Given the description of an element on the screen output the (x, y) to click on. 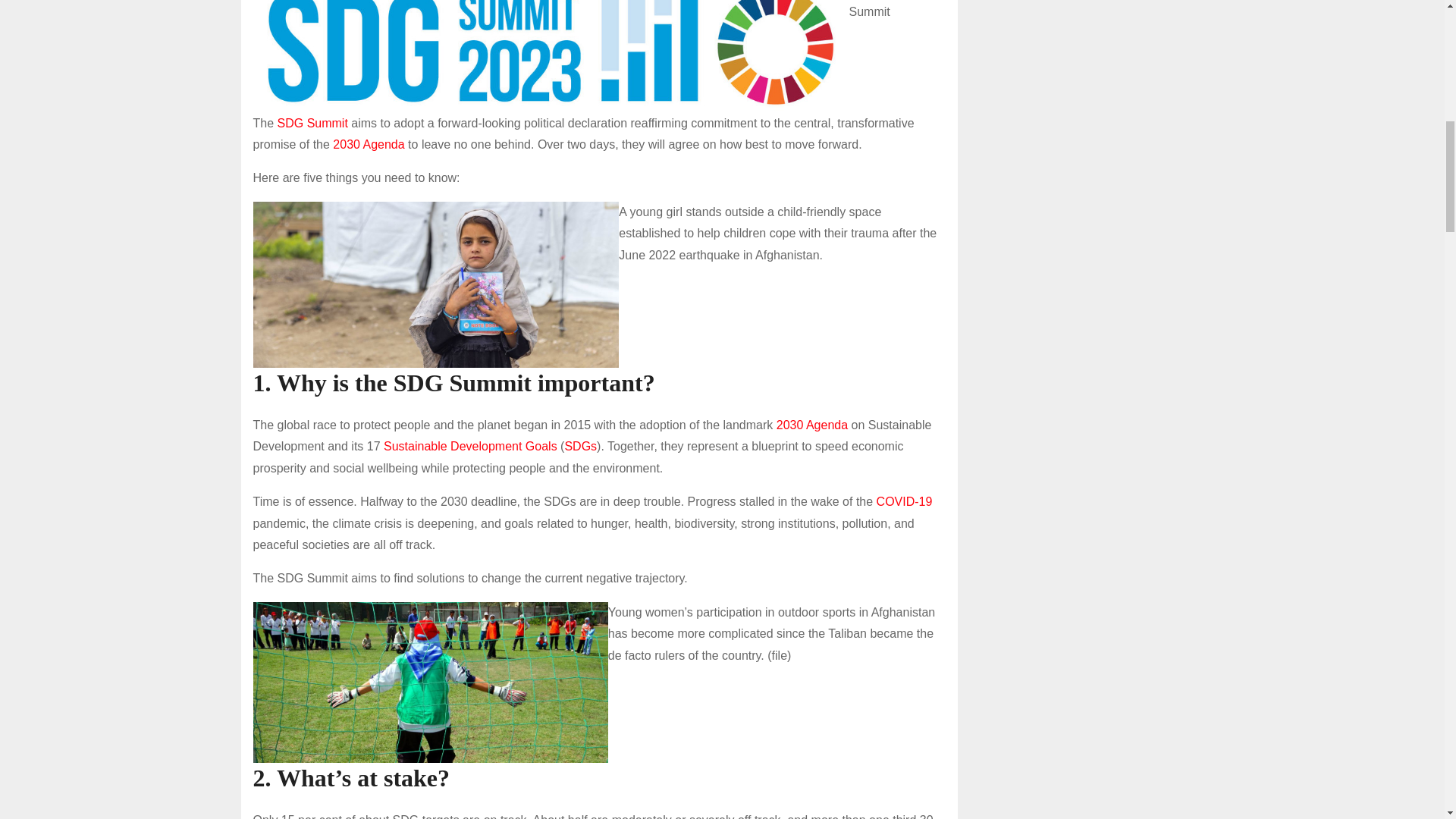
COVID-19 (904, 501)
SDGs (580, 445)
SDG Summit (312, 123)
Sustainable Development Goals (470, 445)
2030 Agenda (368, 144)
The 2023 SDG Summit (550, 56)
2030 Agenda (811, 424)
